Given the description of an element on the screen output the (x, y) to click on. 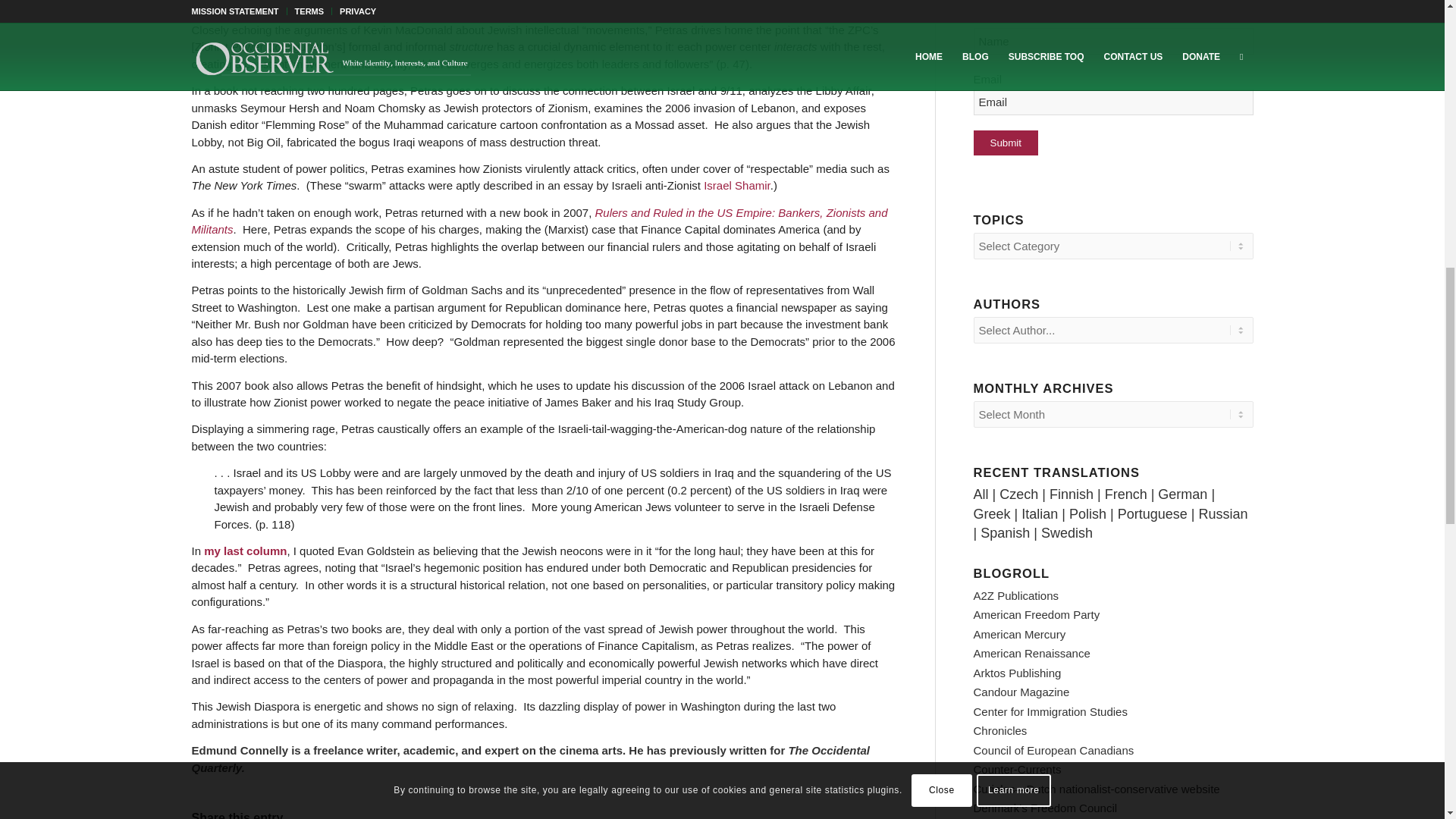
Israel Shamir (736, 185)
my last column (244, 550)
Submit (1006, 142)
